Given the description of an element on the screen output the (x, y) to click on. 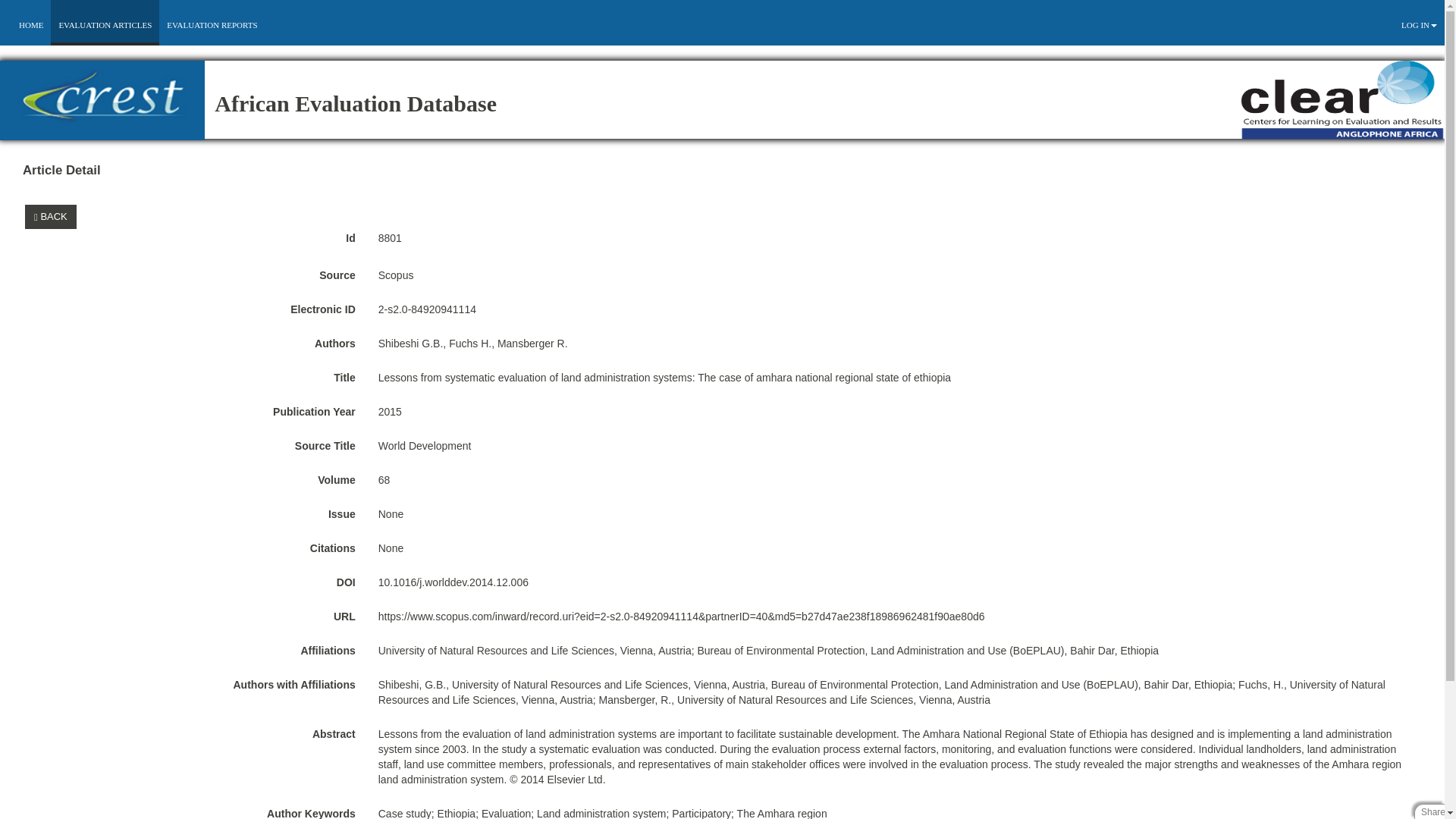
Back (53, 215)
EVALUATION ARTICLES (104, 24)
BACK (50, 216)
EVALUATION REPORTS (211, 24)
